Given the description of an element on the screen output the (x, y) to click on. 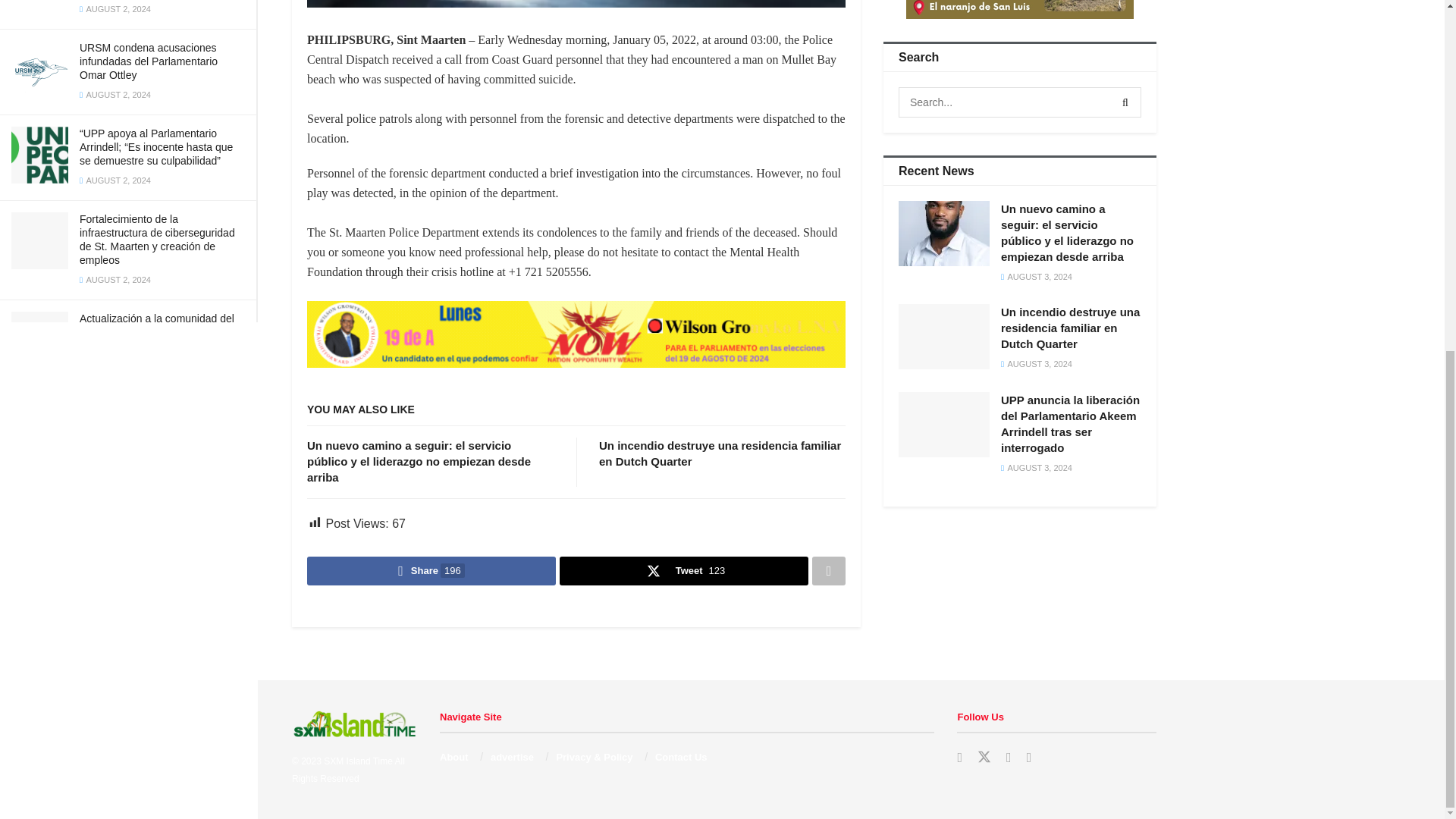
St. Maarten Island Time (358, 760)
